Given the description of an element on the screen output the (x, y) to click on. 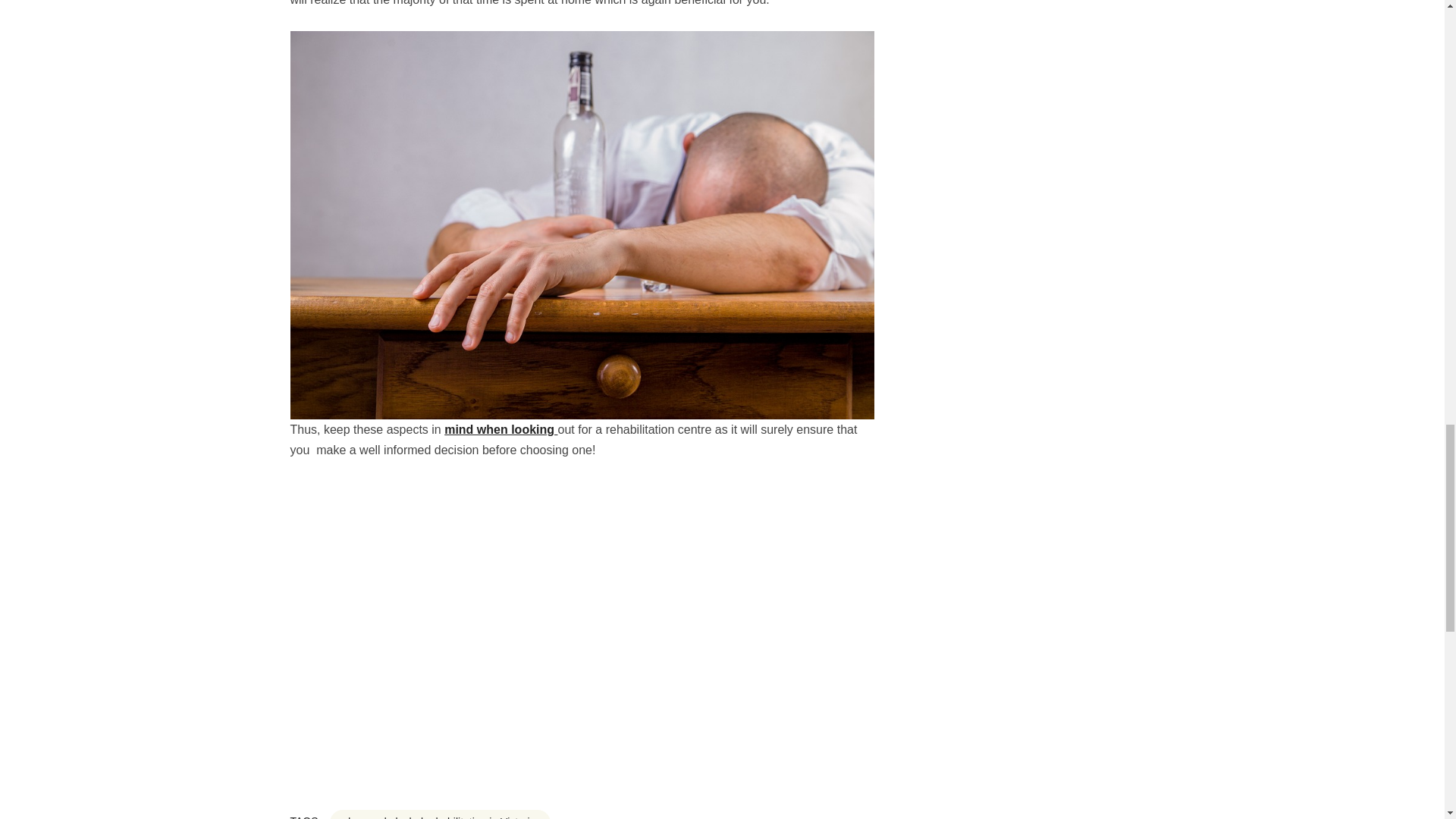
mind when looking (500, 429)
drug and alcohol rehabilitation in Victoria (440, 814)
